Given the description of an element on the screen output the (x, y) to click on. 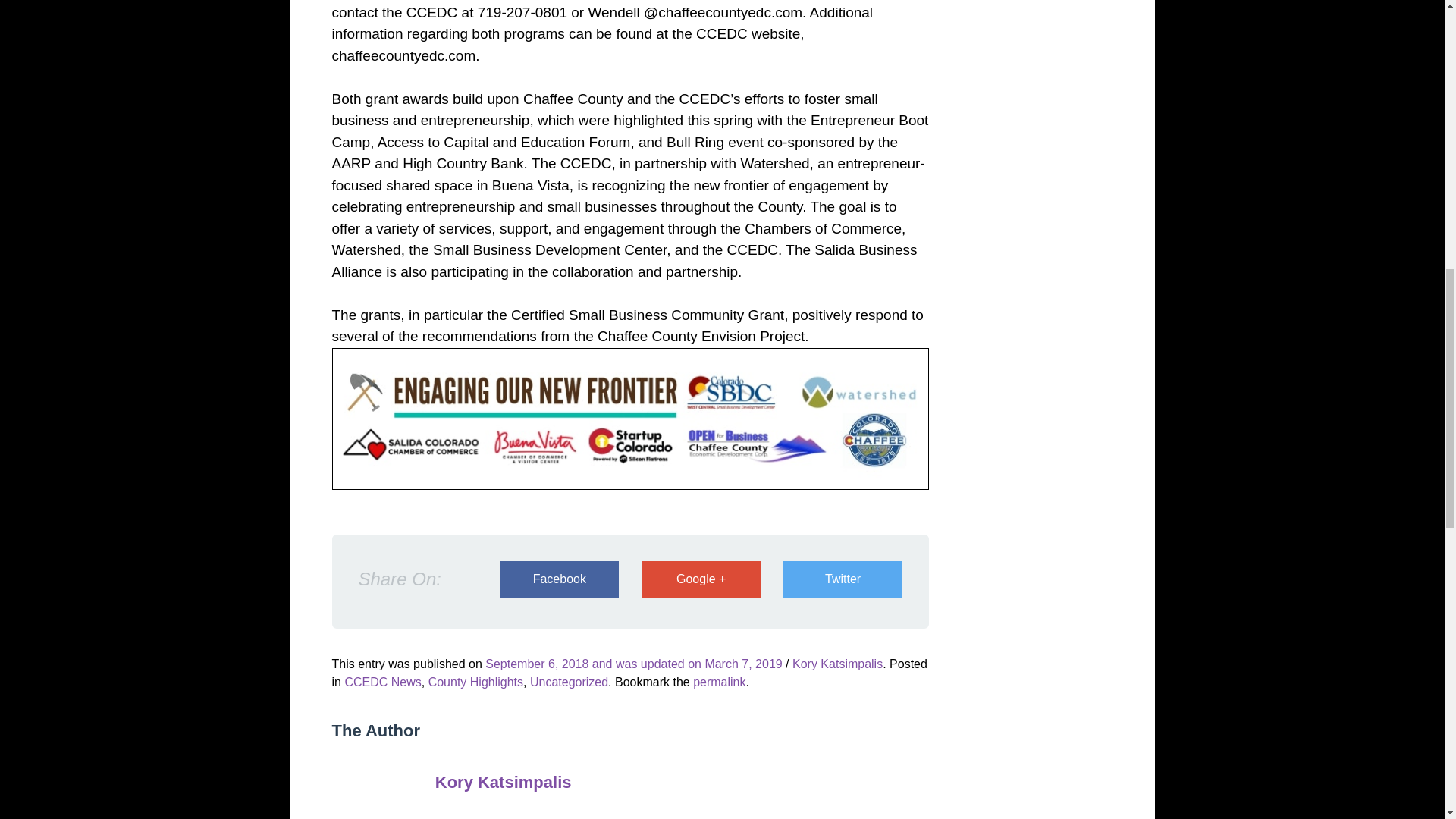
View all posts by Kory Katsimpalis (837, 663)
1:07 pm (632, 663)
